Given the description of an element on the screen output the (x, y) to click on. 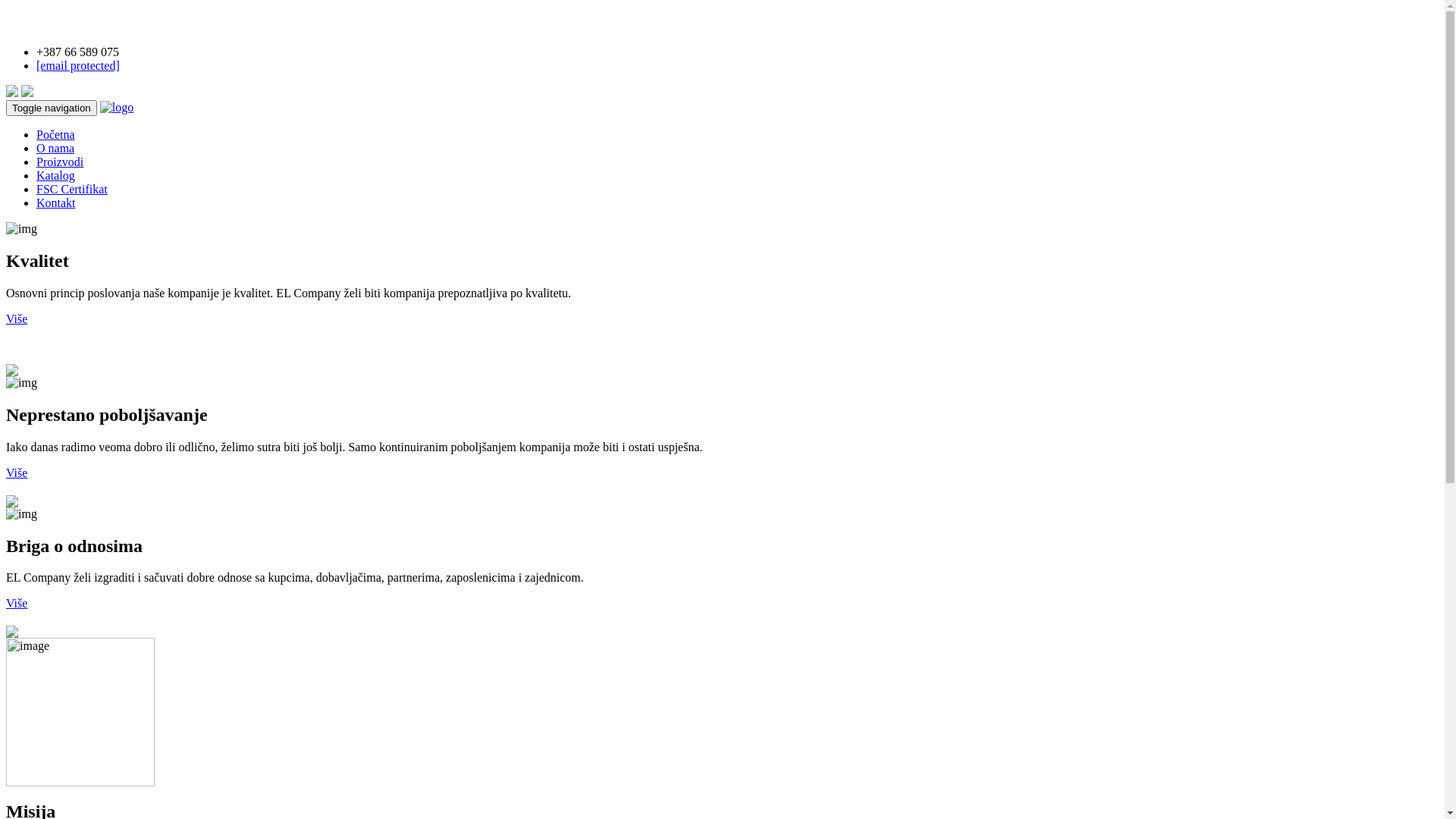
FSC Certifikat Element type: text (71, 188)
Proizvodi Element type: text (59, 161)
[email protected] Element type: text (77, 65)
Katalog Element type: text (55, 175)
Kontakt Element type: text (55, 202)
Toggle navigation Element type: text (51, 108)
O nama Element type: text (55, 147)
